Given the description of an element on the screen output the (x, y) to click on. 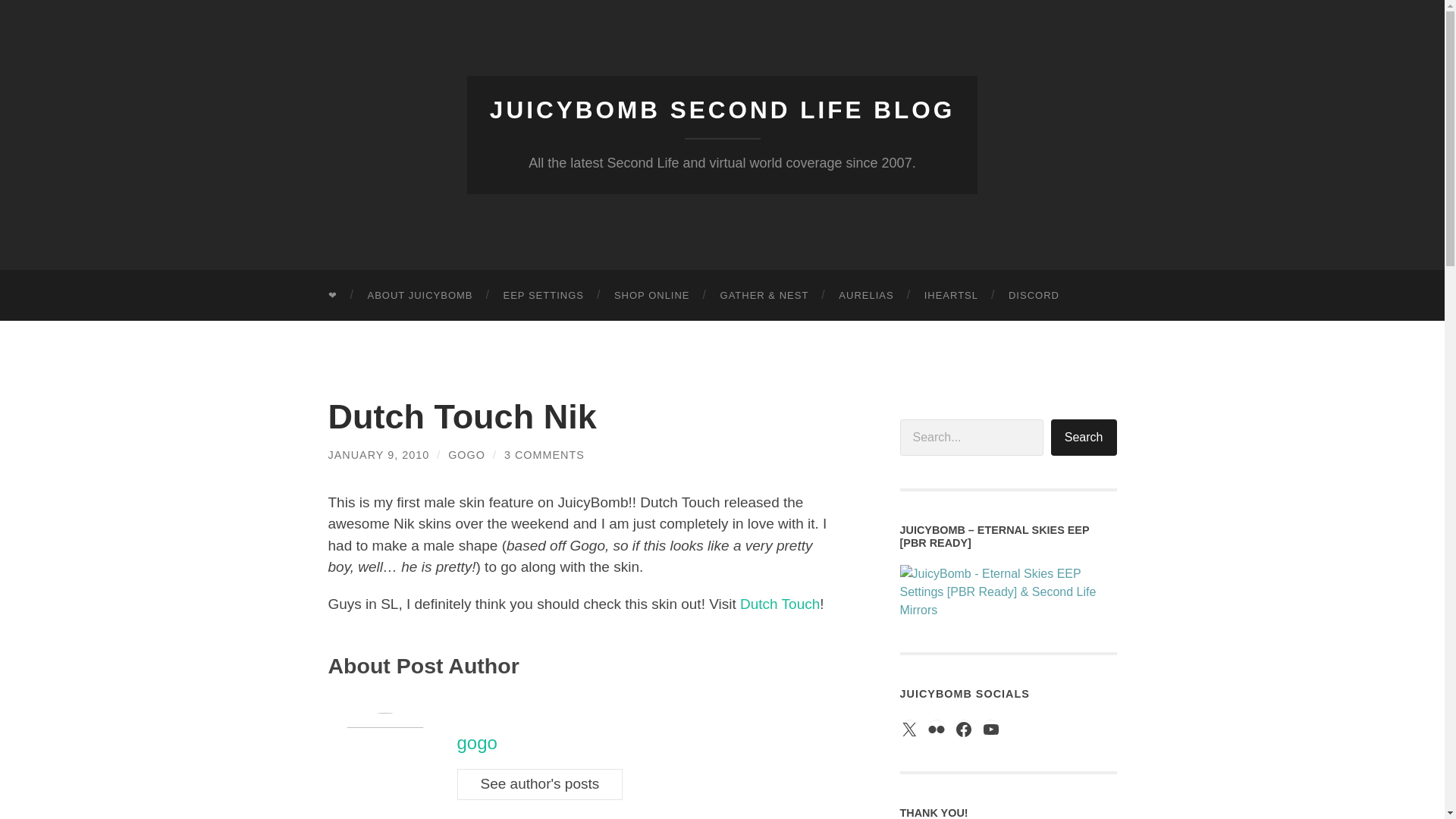
gogo (476, 742)
DISCORD (1033, 295)
ABOUT JUICYBOMB (419, 295)
EEP SETTINGS (542, 295)
Posts by gogo (466, 454)
JANUARY 9, 2010 (378, 454)
IHEARTSL (950, 295)
See author's posts (540, 784)
SHOP ONLINE (651, 295)
JUICYBOMB SECOND LIFE BLOG (722, 109)
